Given the description of an element on the screen output the (x, y) to click on. 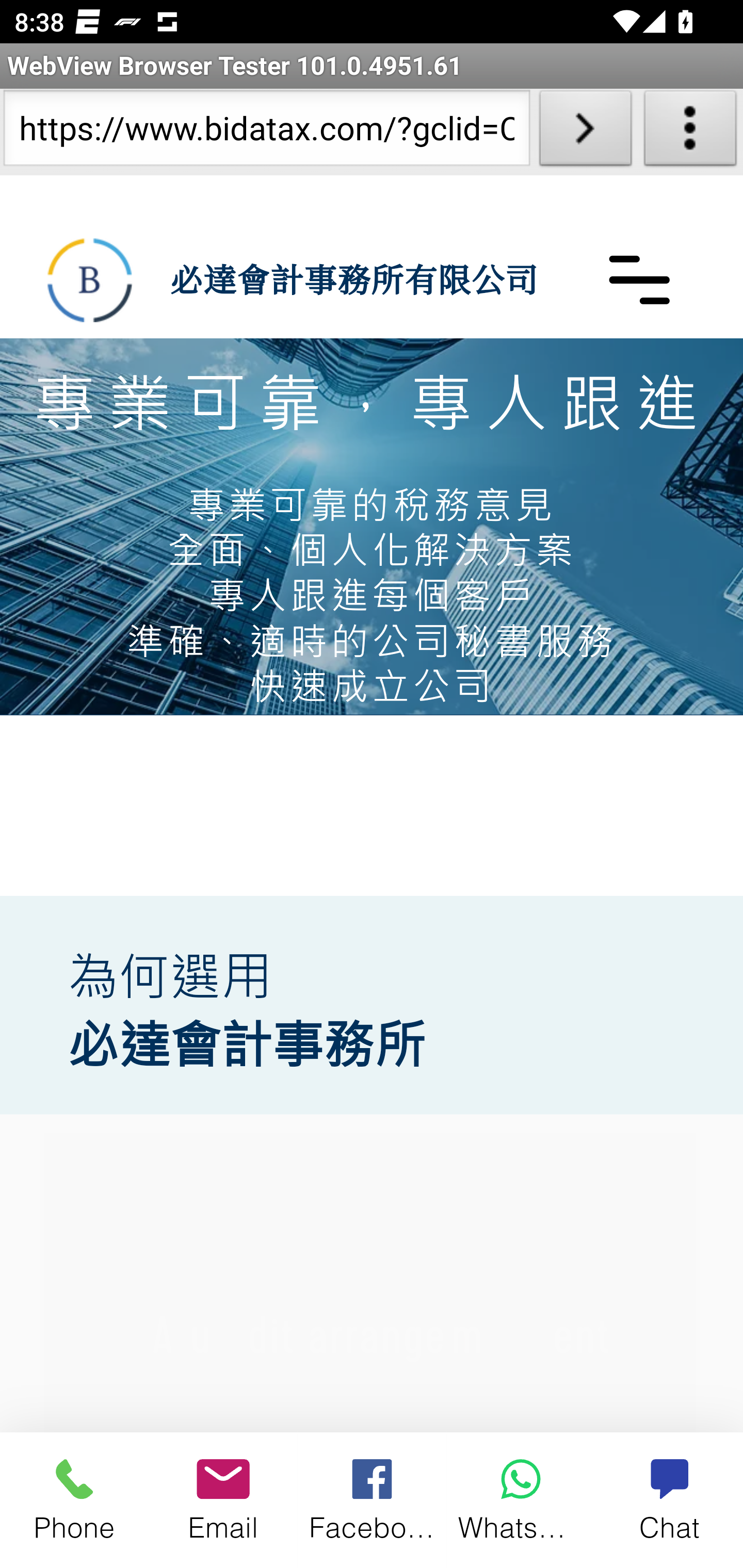
Load URL (585, 132)
About WebView (690, 132)
Open navigation menu (638, 279)
必達會計事務所有限公司 (90, 279)
必達會計事務所有限公司 (353, 278)
Phone (74, 1499)
Email (222, 1499)
Facebook (372, 1499)
WhatsApp (520, 1499)
Chat (669, 1499)
